Given the description of an element on the screen output the (x, y) to click on. 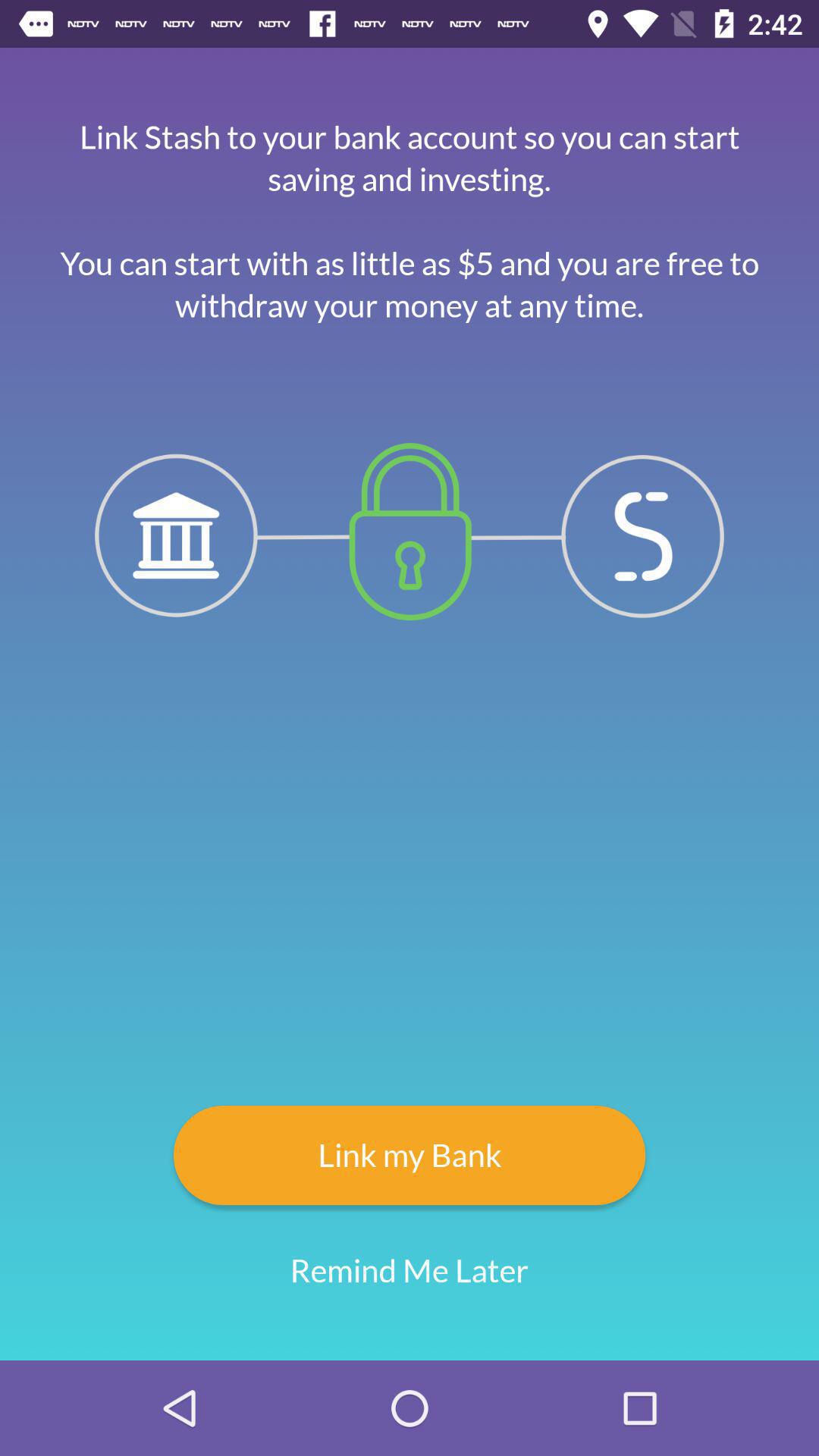
tap item below link my bank (409, 1270)
